Given the description of an element on the screen output the (x, y) to click on. 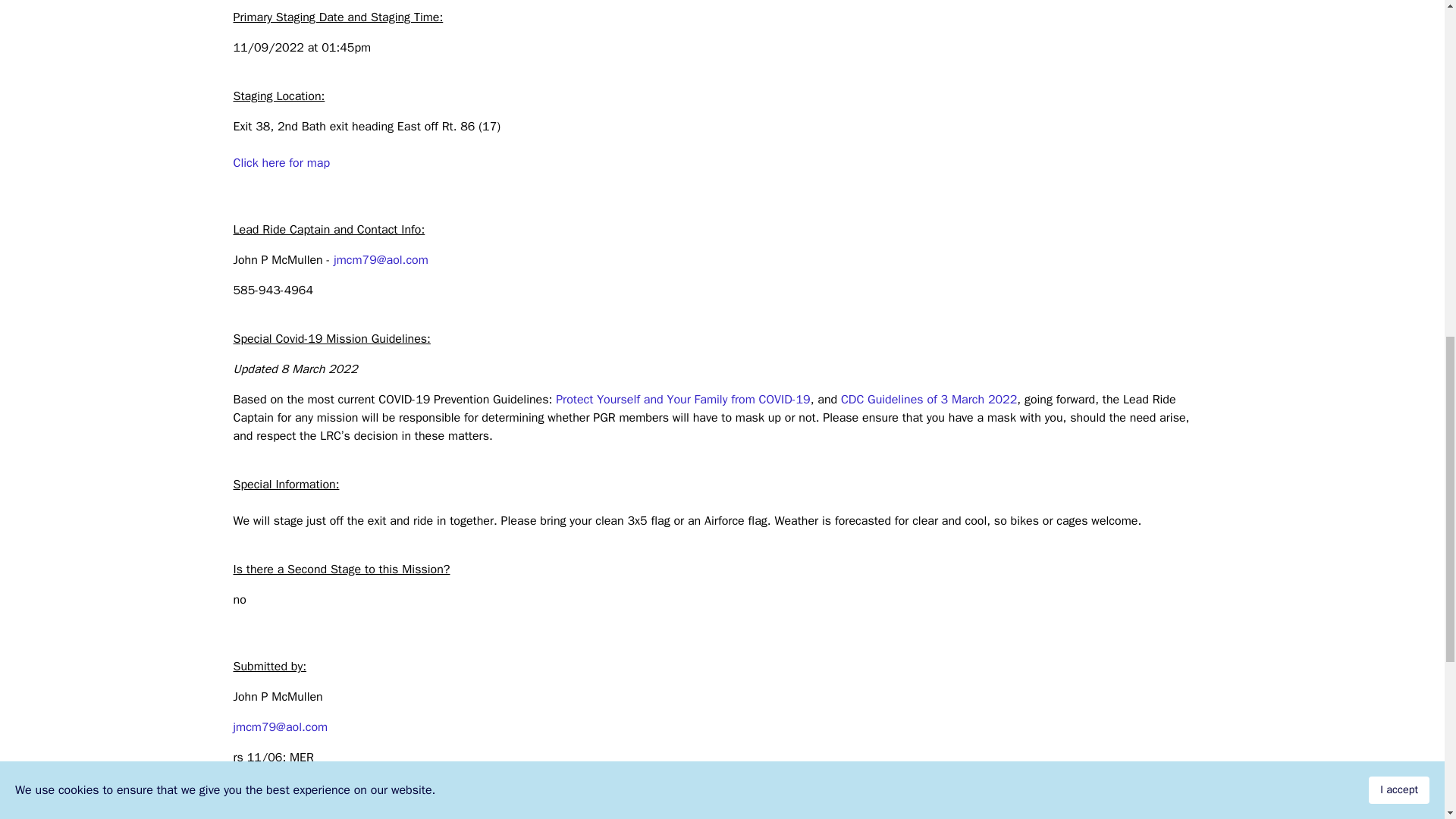
Protect Yourself and Your Family from COVID-19 (683, 399)
